Given the description of an element on the screen output the (x, y) to click on. 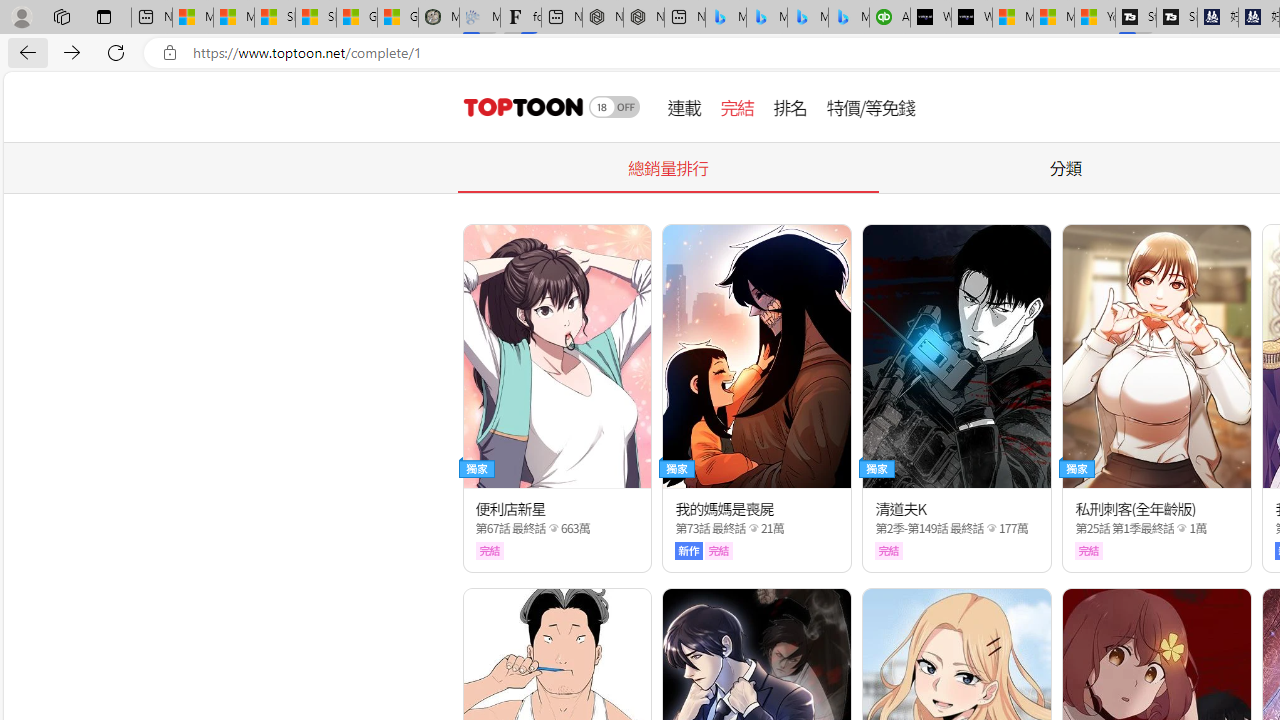
Shanghai, China weather forecast | Microsoft Weather (315, 17)
Microsoft Bing Travel - Stays in Bangkok, Bangkok, Thailand (767, 17)
Microsoft Start Sports (1012, 17)
Class: thumb_img (1156, 356)
Accounting Software for Accountants, CPAs and Bookkeepers (890, 17)
Manatee Mortality Statistics | FWC (438, 17)
Gilma and Hector both pose tropical trouble for Hawaii (397, 17)
Class:  switch_18mode actionAdultBtn (614, 106)
